Given the description of an element on the screen output the (x, y) to click on. 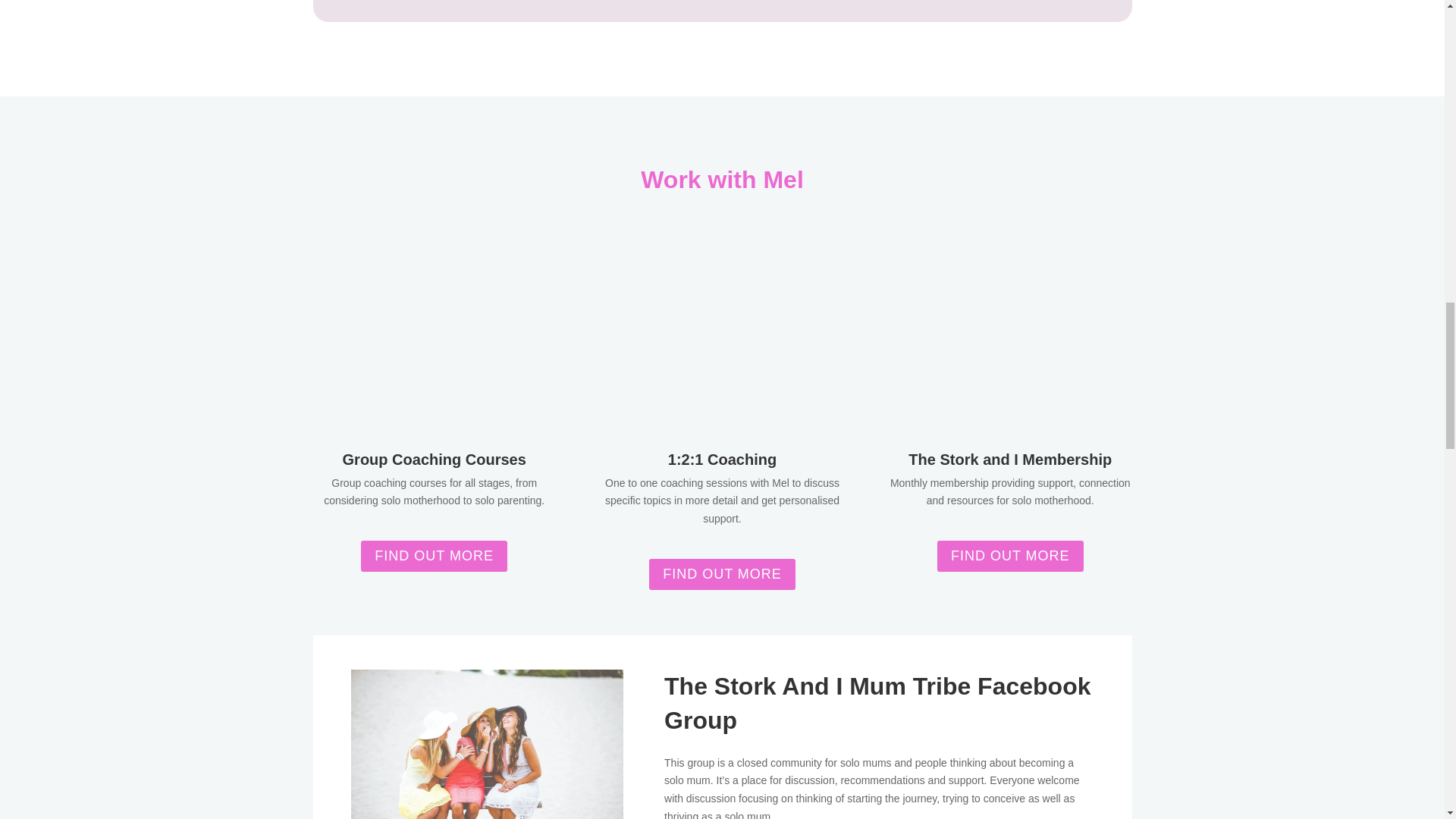
ben-white-s1ihVBg5tbI-unsplash (486, 744)
FIND OUT MORE (721, 573)
FIND OUT MORE (433, 555)
